Given the description of an element on the screen output the (x, y) to click on. 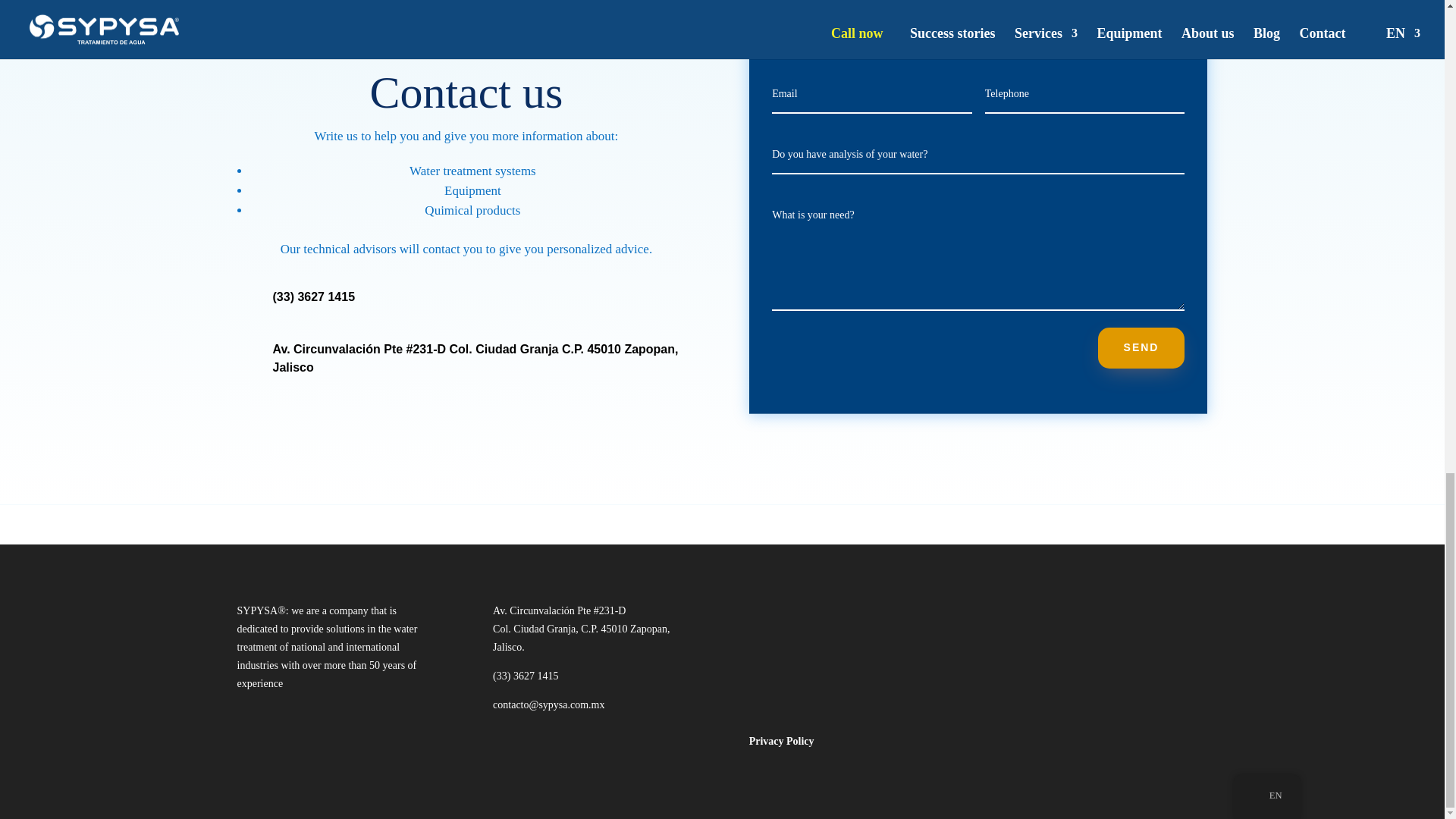
SEND (1141, 347)
Privacy Policy (781, 740)
